Given the description of an element on the screen output the (x, y) to click on. 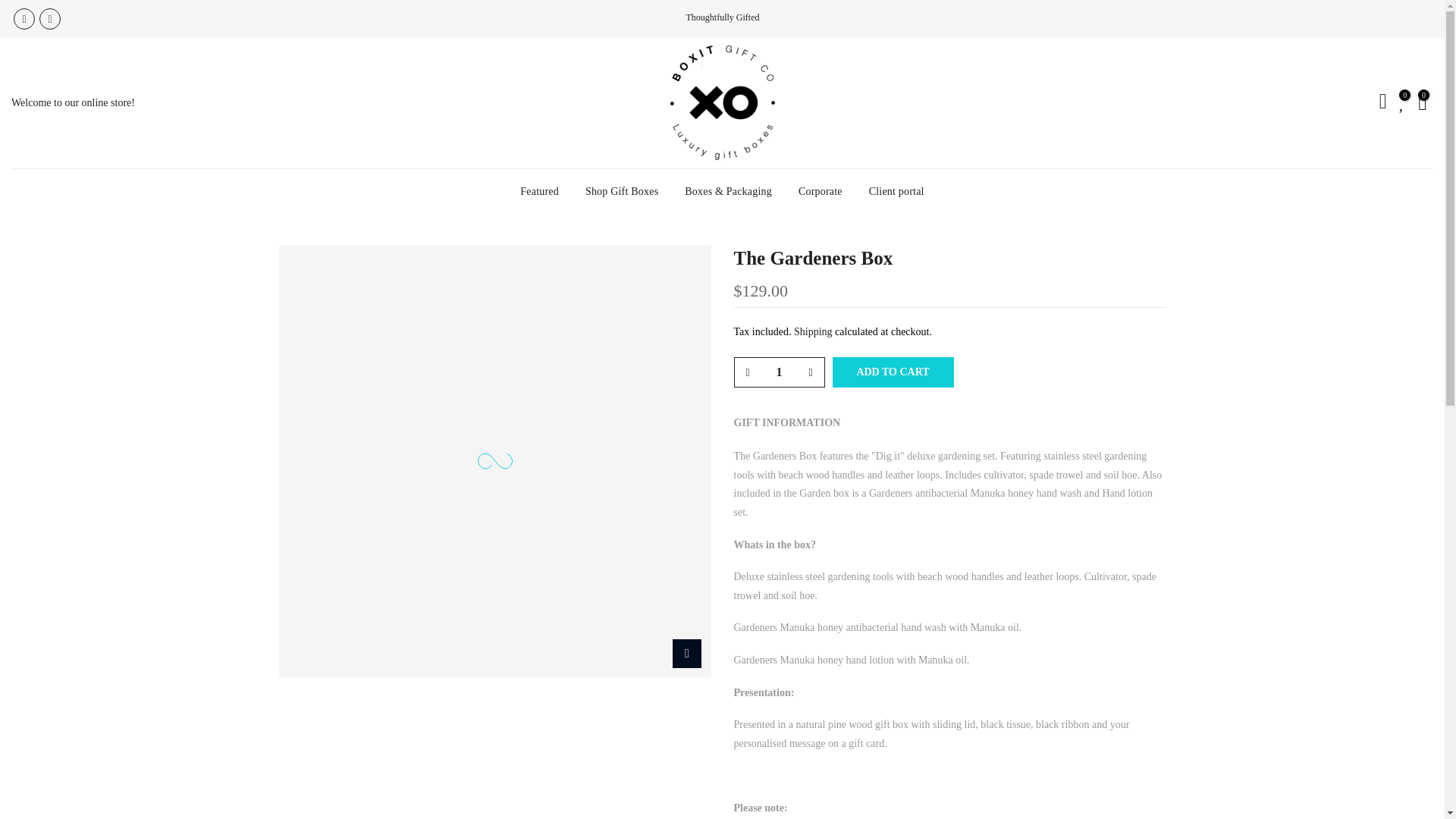
Featured (539, 191)
Corporate (820, 191)
Shop Gift Boxes (621, 191)
ADD TO CART (892, 372)
Shipping (812, 331)
Client portal (896, 191)
1 (778, 371)
